Given the description of an element on the screen output the (x, y) to click on. 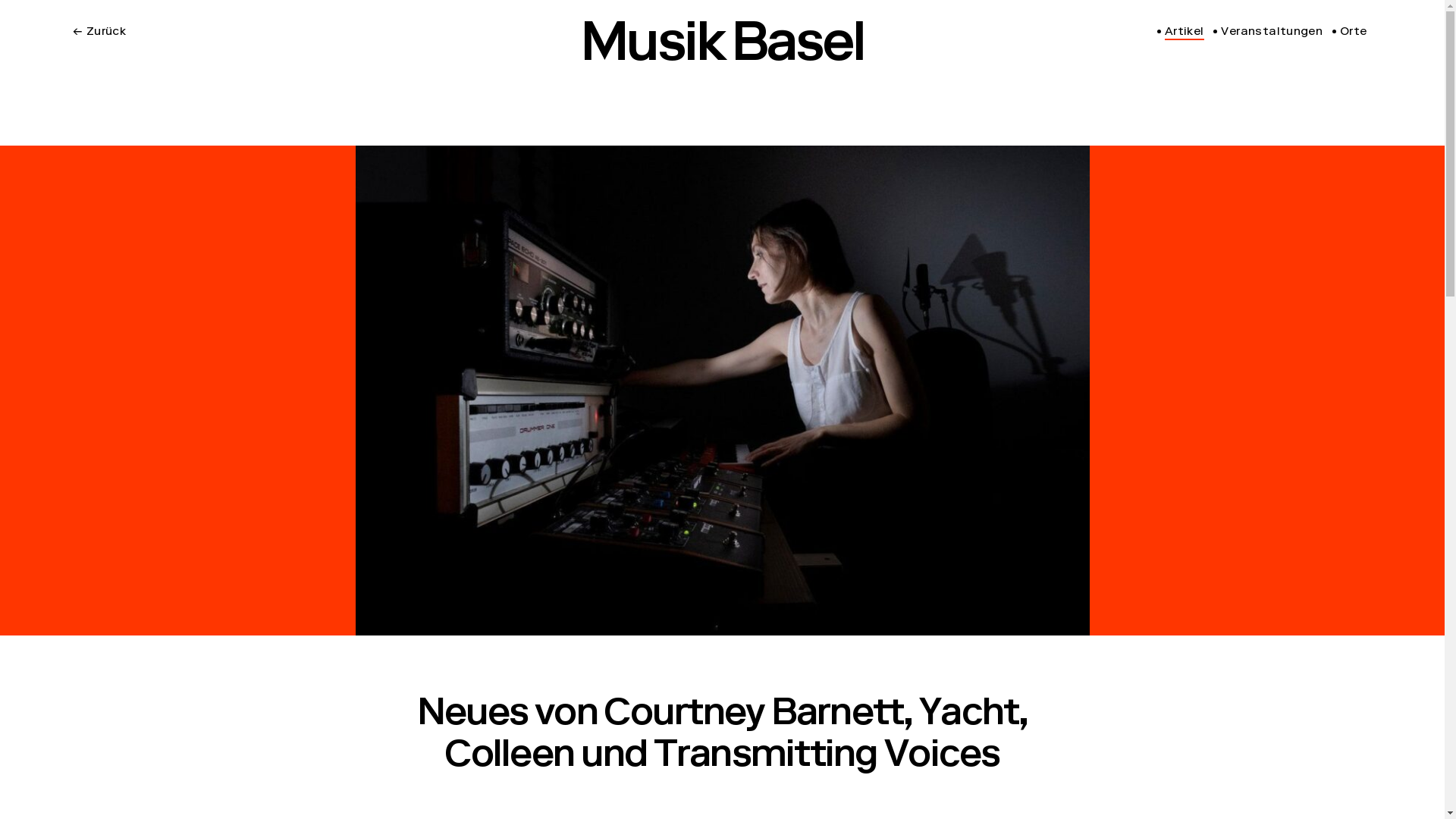
Artikel Element type: text (1180, 32)
Musik Basel Element type: text (722, 48)
Orte Element type: text (1349, 32)
Veranstaltungen Element type: text (1267, 32)
